Given the description of an element on the screen output the (x, y) to click on. 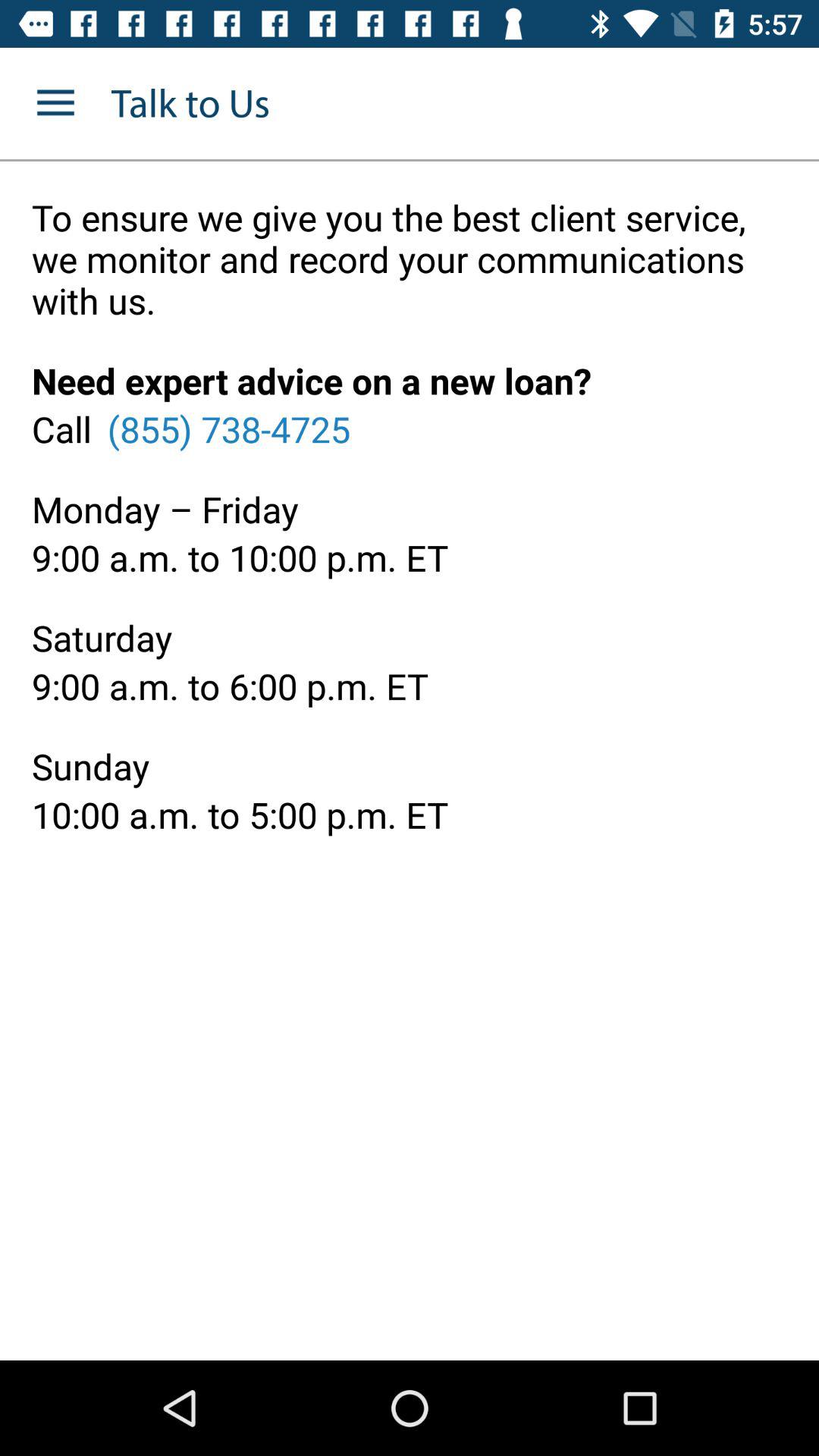
turn off the item next to talk to us item (55, 103)
